Given the description of an element on the screen output the (x, y) to click on. 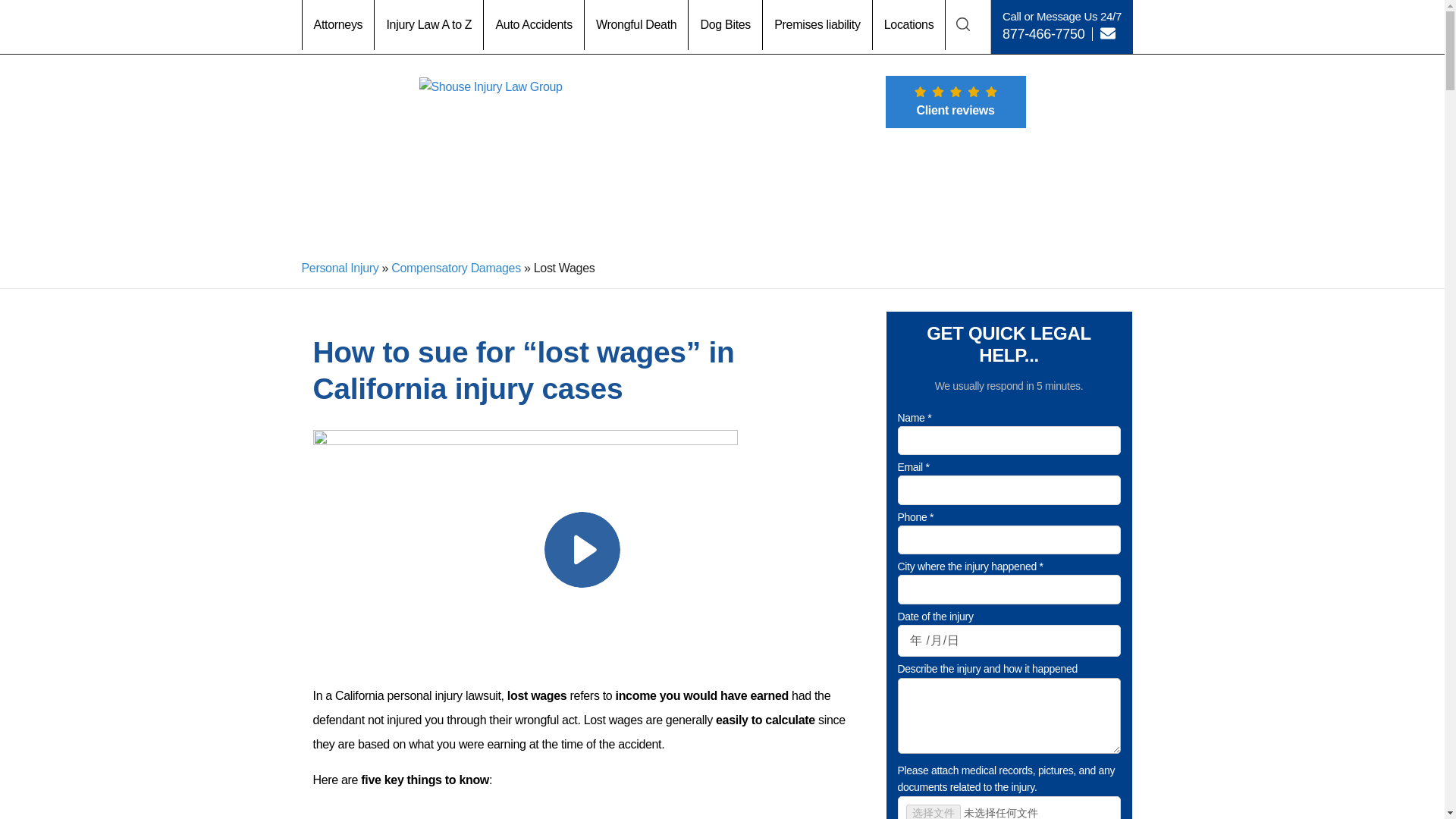
Submit (716, 675)
Personal Injury (339, 267)
Auto Accidents (534, 24)
Wrongful Death (636, 24)
Injury Law A to Z (428, 24)
877-466-7750 (1043, 33)
Compensatory Damages (456, 267)
Locations (909, 24)
Personal Injury (339, 267)
Client reviews (955, 101)
